Given the description of an element on the screen output the (x, y) to click on. 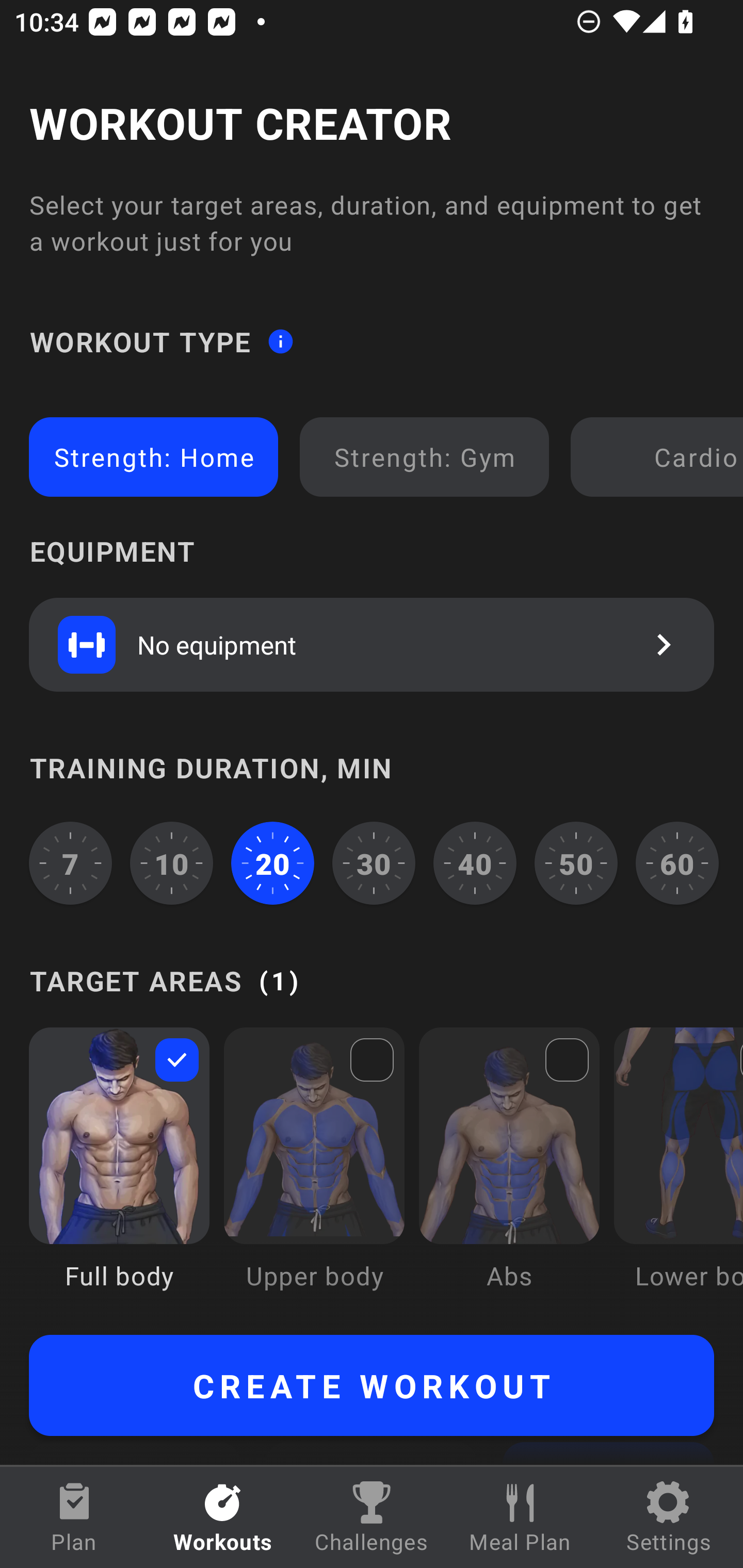
Workout type information button (280, 340)
Strength: Gym (423, 457)
Cardio (660, 457)
No equipment (371, 644)
7 (70, 862)
10 (171, 862)
20 (272, 862)
30 (373, 862)
40 (474, 862)
50 (575, 862)
60 (676, 862)
Upper body (313, 1172)
Abs (509, 1172)
Lower body (678, 1172)
CREATE WORKOUT (371, 1385)
 Plan  (74, 1517)
 Challenges  (371, 1517)
 Meal Plan  (519, 1517)
 Settings  (668, 1517)
